Given the description of an element on the screen output the (x, y) to click on. 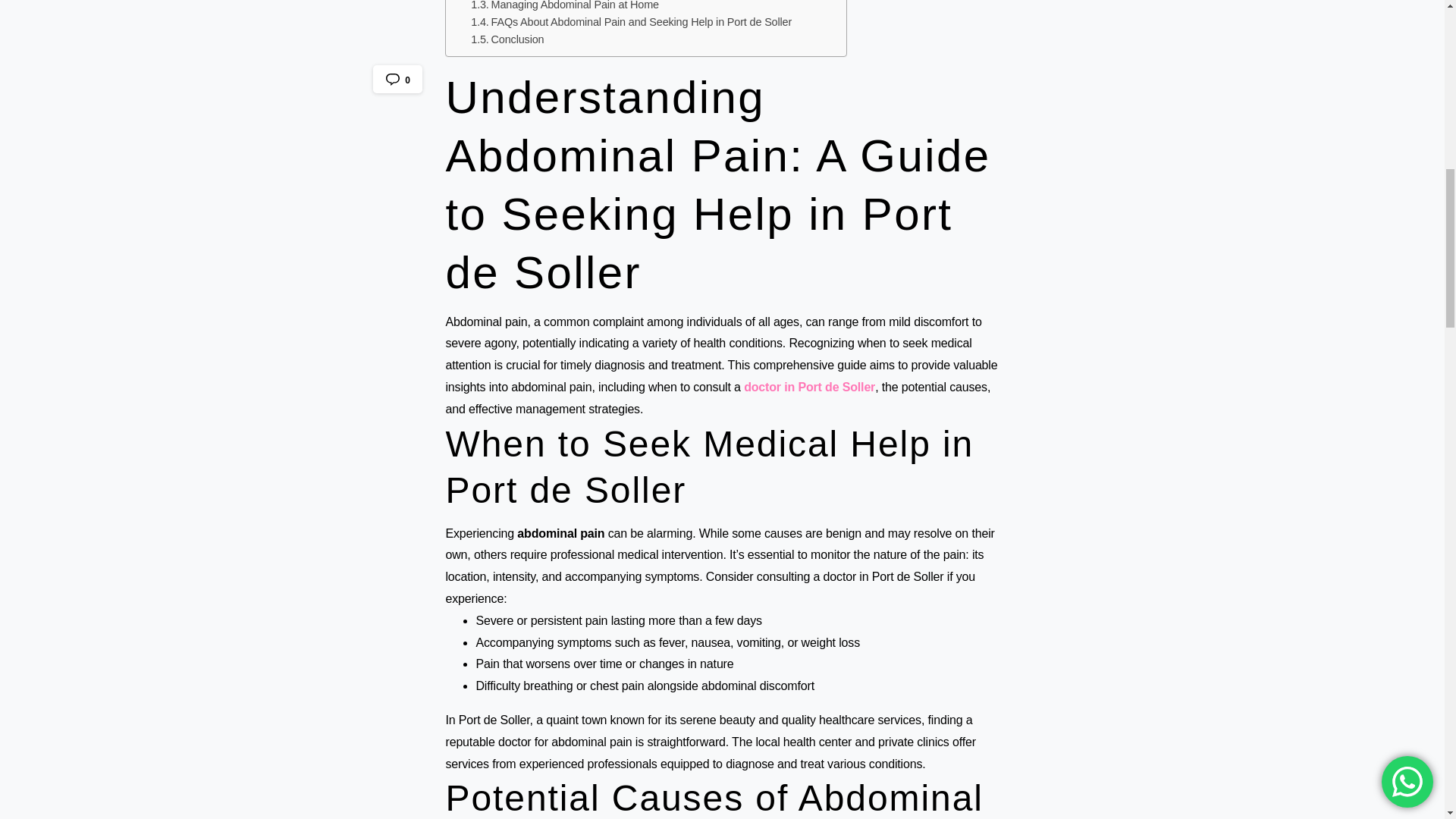
doctor in Port de Soller (809, 386)
Conclusion (506, 39)
FAQs About Abdominal Pain and Seeking Help in Port de Soller (631, 22)
Managing Abdominal Pain at Home (564, 6)
Conclusion (506, 39)
Managing Abdominal Pain at Home (564, 6)
FAQs About Abdominal Pain and Seeking Help in Port de Soller (631, 22)
